Given the description of an element on the screen output the (x, y) to click on. 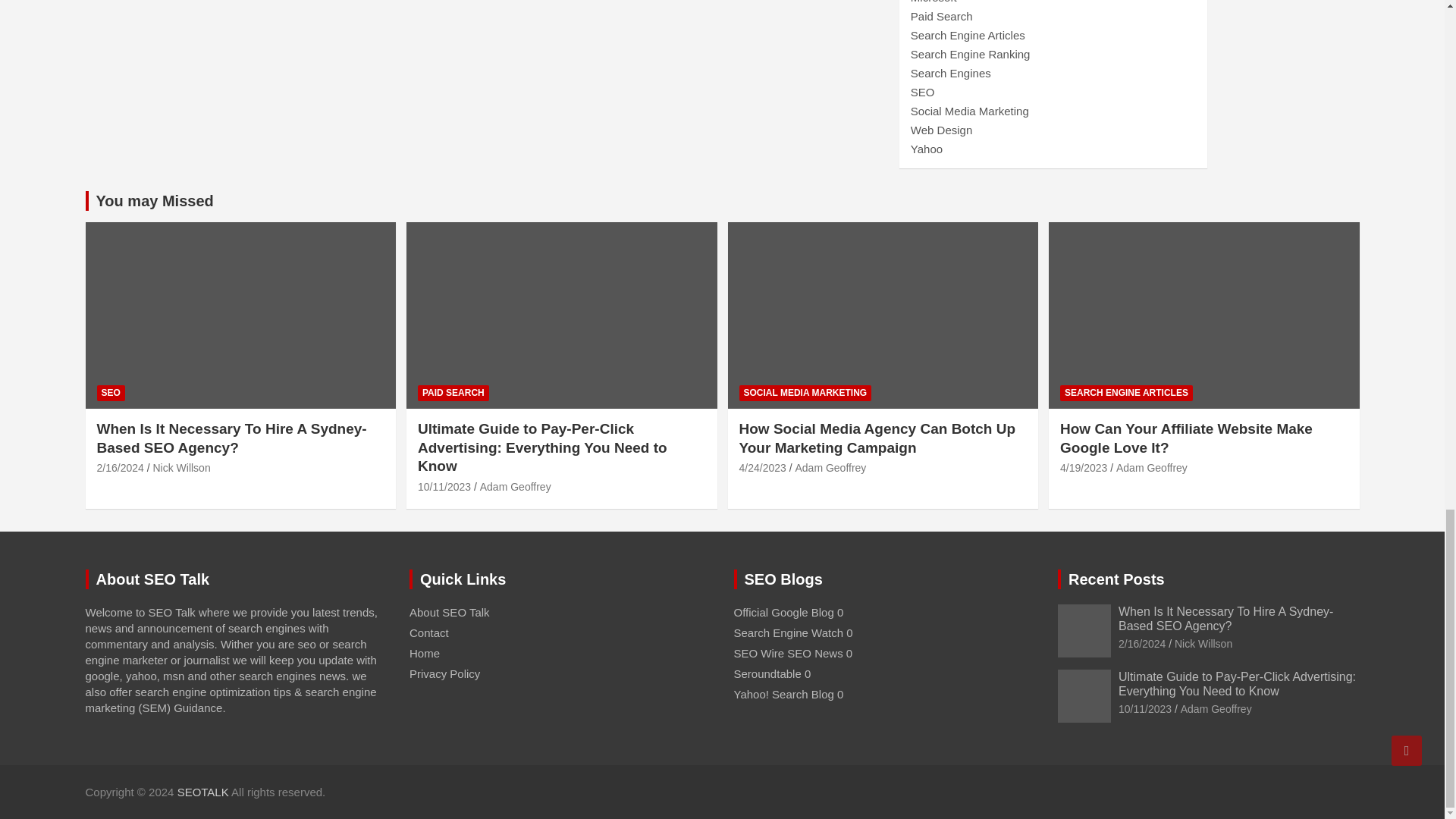
SEO News (758, 653)
When Is It Necessary To Hire A Sydney-Based SEO Agency? (1142, 644)
How Can Your Affiliate Website Make Google Love It? (1082, 467)
When Is It Necessary To Hire A Sydney-Based SEO Agency? (120, 467)
How Social Media Agency Can Botch Up Your Marketing Campaign (762, 467)
